Given the description of an element on the screen output the (x, y) to click on. 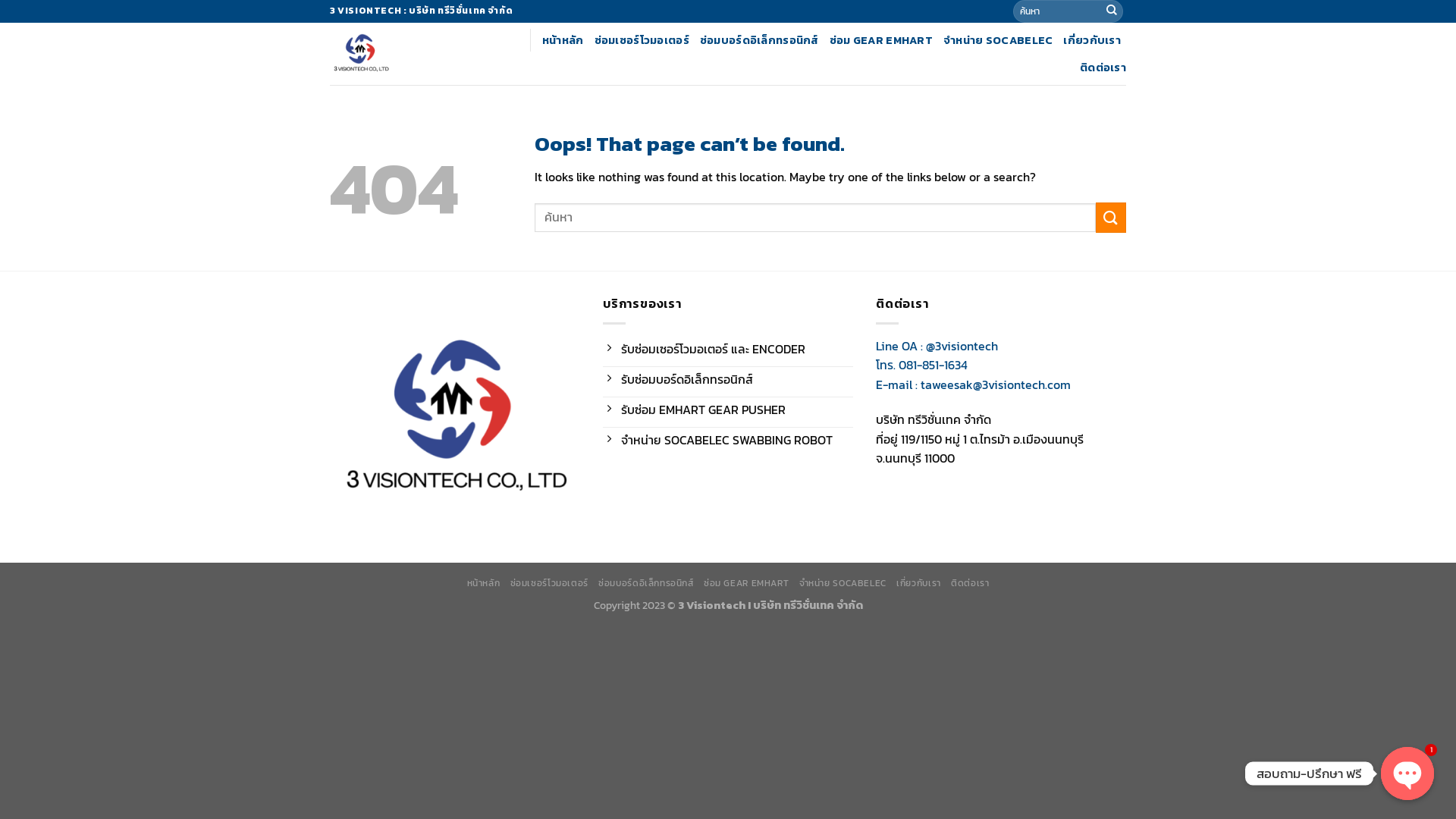
Line OA : @3visiontech Element type: text (936, 345)
E-mail : taweesak@3visiontech.com Element type: text (972, 384)
